Given the description of an element on the screen output the (x, y) to click on. 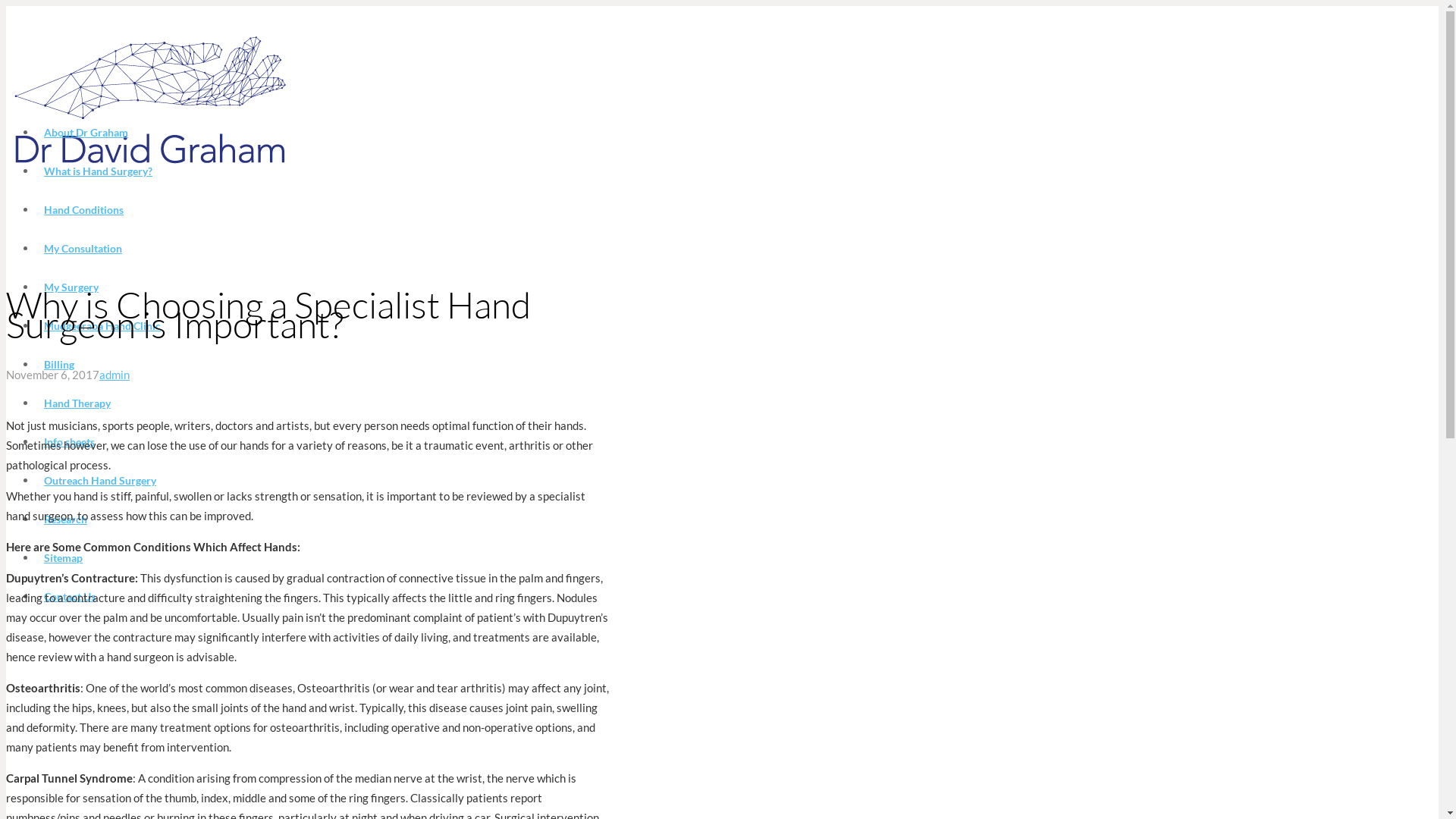
Hand Therapy Element type: text (77, 402)
Outreach Hand Surgery Element type: text (99, 479)
Info sheets Element type: text (69, 441)
Mudgeeraba Hand Clinic Element type: text (102, 325)
admin Element type: text (114, 374)
Research Element type: text (65, 518)
Contact Us Element type: text (69, 595)
Sitemap Element type: text (63, 557)
My Surgery Element type: text (71, 286)
What is Hand Surgery? Element type: text (98, 170)
My Consultation Element type: text (82, 247)
Hand Conditions Element type: text (83, 209)
Billing Element type: text (58, 363)
About Dr Graham Element type: text (85, 131)
